Given the description of an element on the screen output the (x, y) to click on. 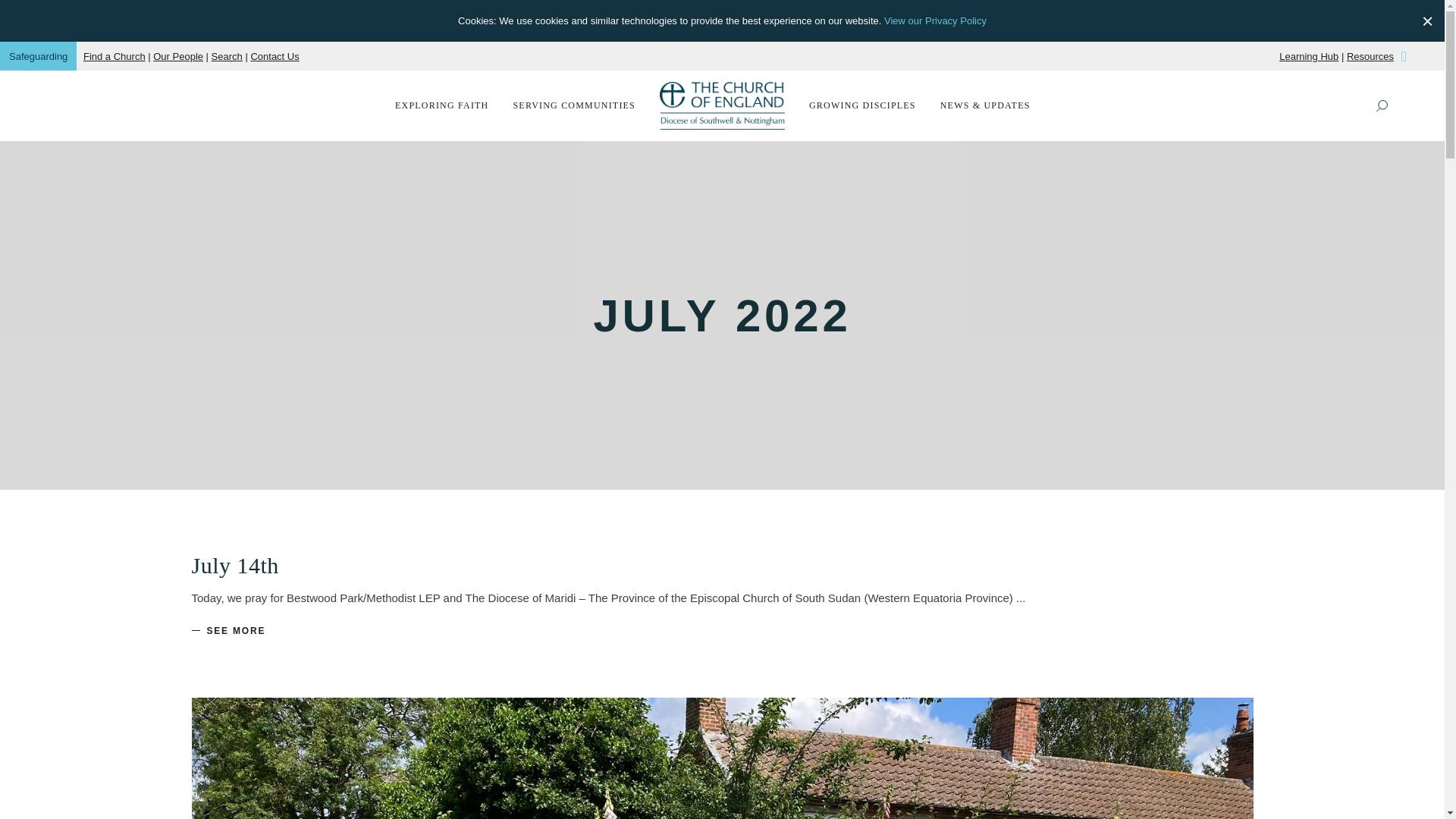
Our People (177, 55)
Safeguarding (38, 55)
Resources (1369, 55)
View our Privacy Policy (935, 20)
GROWING DISCIPLES (862, 105)
SERVING COMMUNITIES (573, 105)
Accessibility Tools (1429, 14)
Find a Church (113, 55)
Search (227, 55)
EXPLORING FAITH (441, 105)
July 14th (234, 565)
Contact Us (274, 55)
Learning Hub (1308, 55)
Open toolbar (1429, 14)
